Given the description of an element on the screen output the (x, y) to click on. 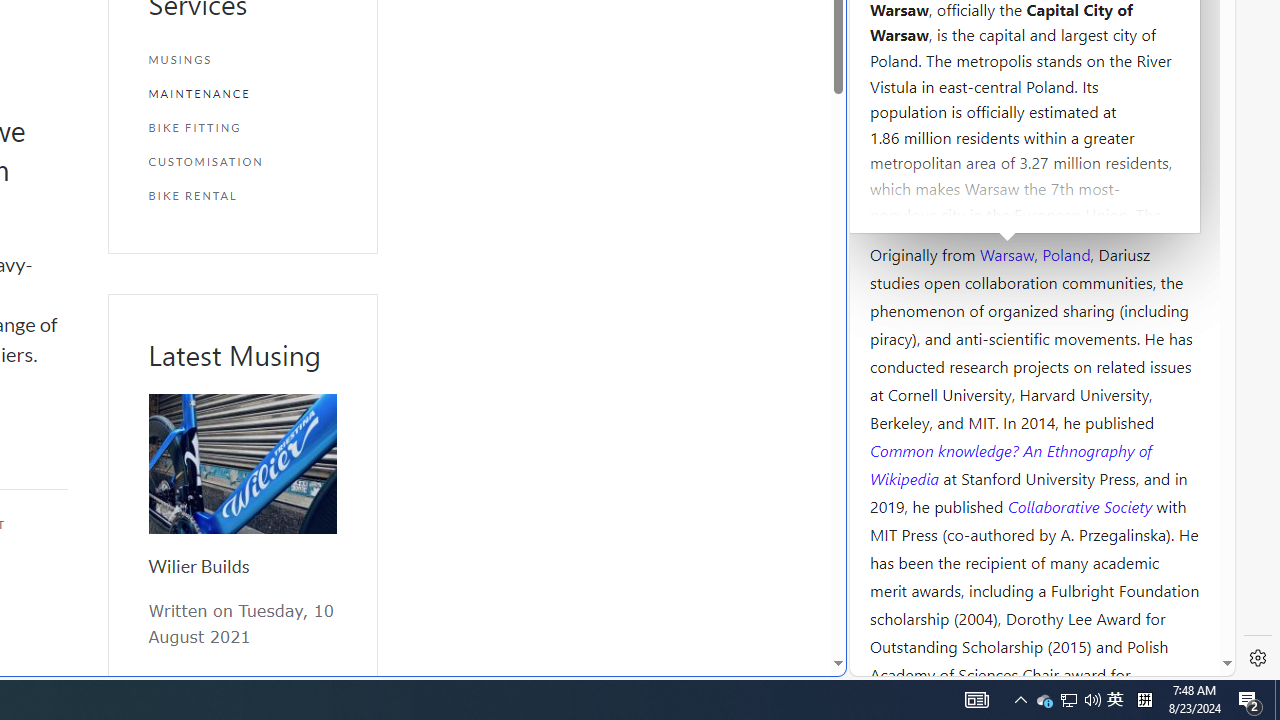
BIKE RENTAL (242, 195)
Warsaw (1006, 253)
MUSINGS (242, 60)
Wilier Builds (198, 566)
BIKE RENTAL (242, 195)
BIKE FITTING (242, 127)
MSN (687, 223)
Wilier Builds (242, 463)
Harvard University (934, 205)
